Given the description of an element on the screen output the (x, y) to click on. 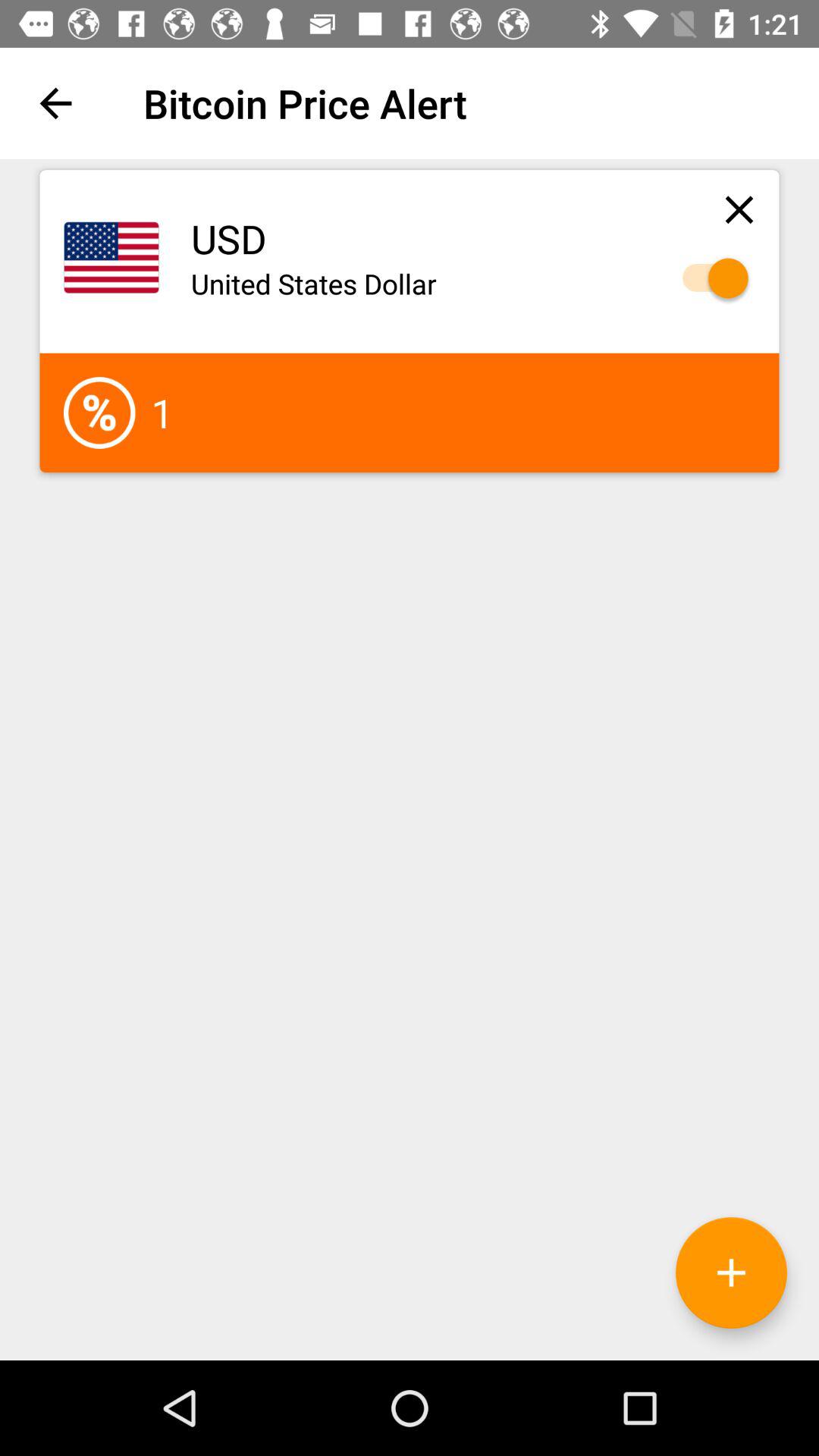
tap icon next to the bitcoin price alert (55, 103)
